Given the description of an element on the screen output the (x, y) to click on. 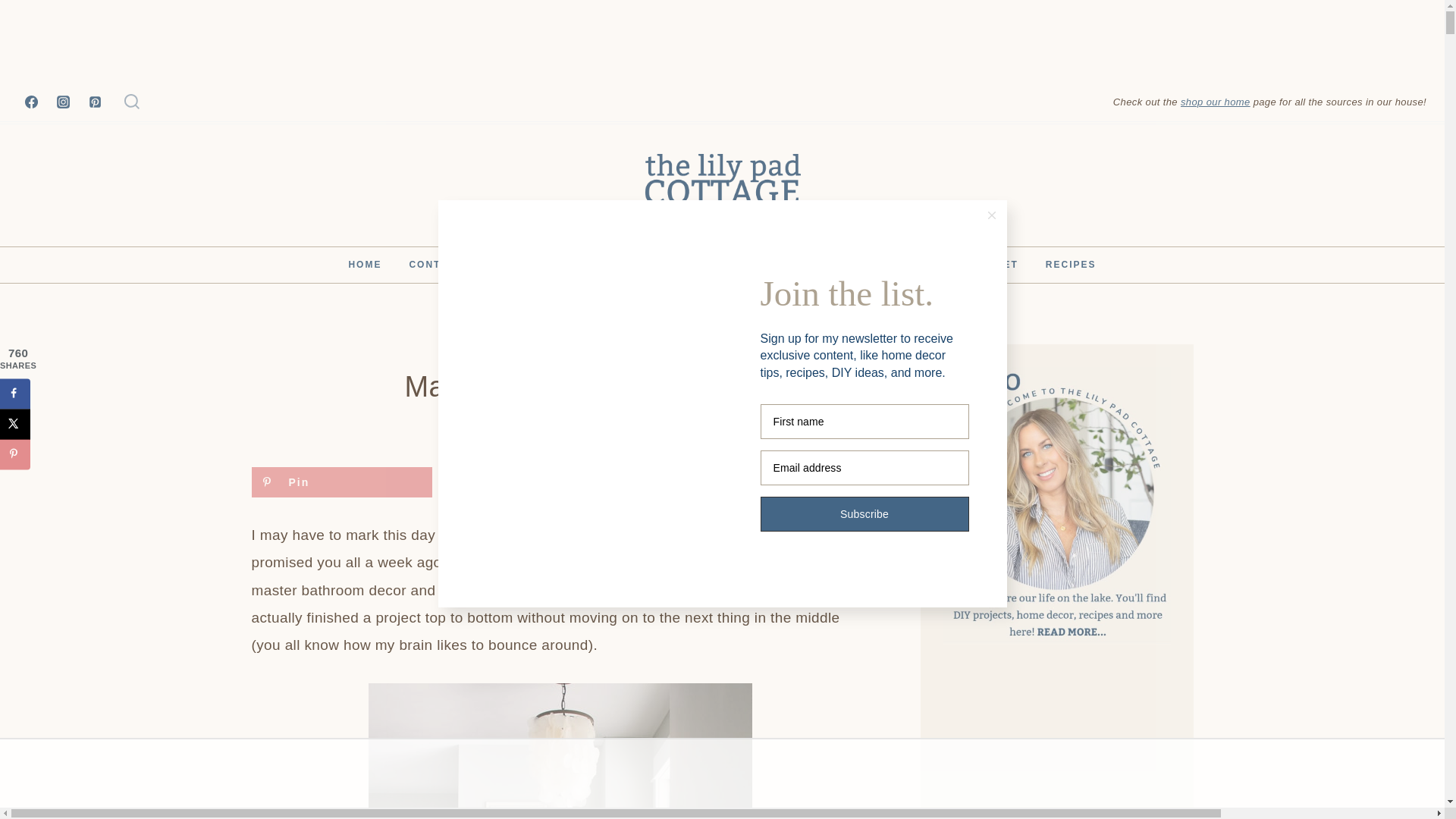
SHOP OUR HOME (839, 264)
OUR HOUSE (603, 352)
Tweet (725, 481)
HOUSE TOUR (563, 264)
SHOP MY CLOSET (967, 264)
Share on X (15, 423)
Pin (341, 481)
AMAZON STOREFRONT (697, 264)
Save to Pinterest (341, 481)
Share on Facebook (534, 481)
CONTACT ME (450, 264)
Share on X (725, 481)
DIY PROJECTS (524, 352)
